Given the description of an element on the screen output the (x, y) to click on. 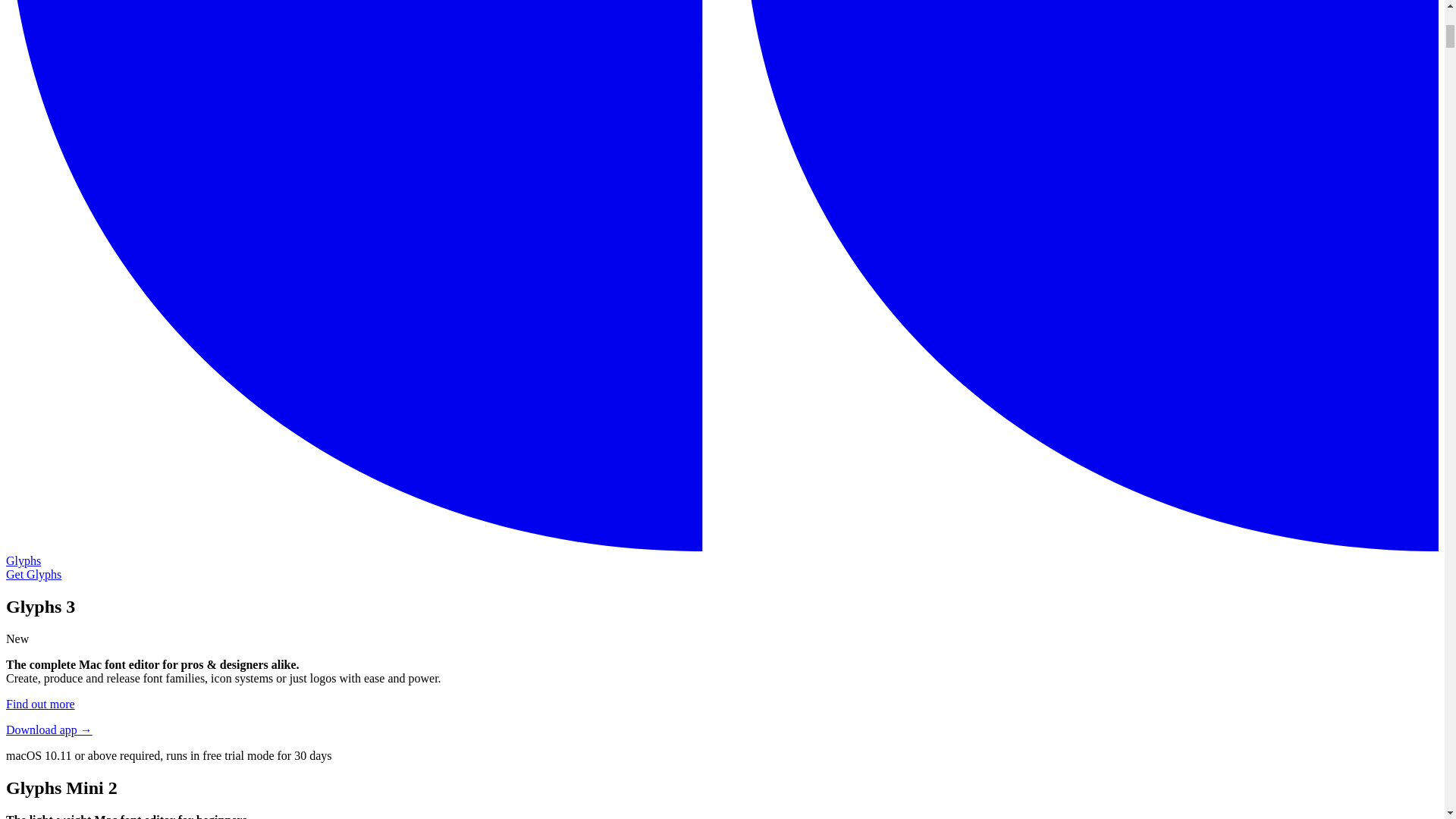
Find out more (40, 703)
